Given the description of an element on the screen output the (x, y) to click on. 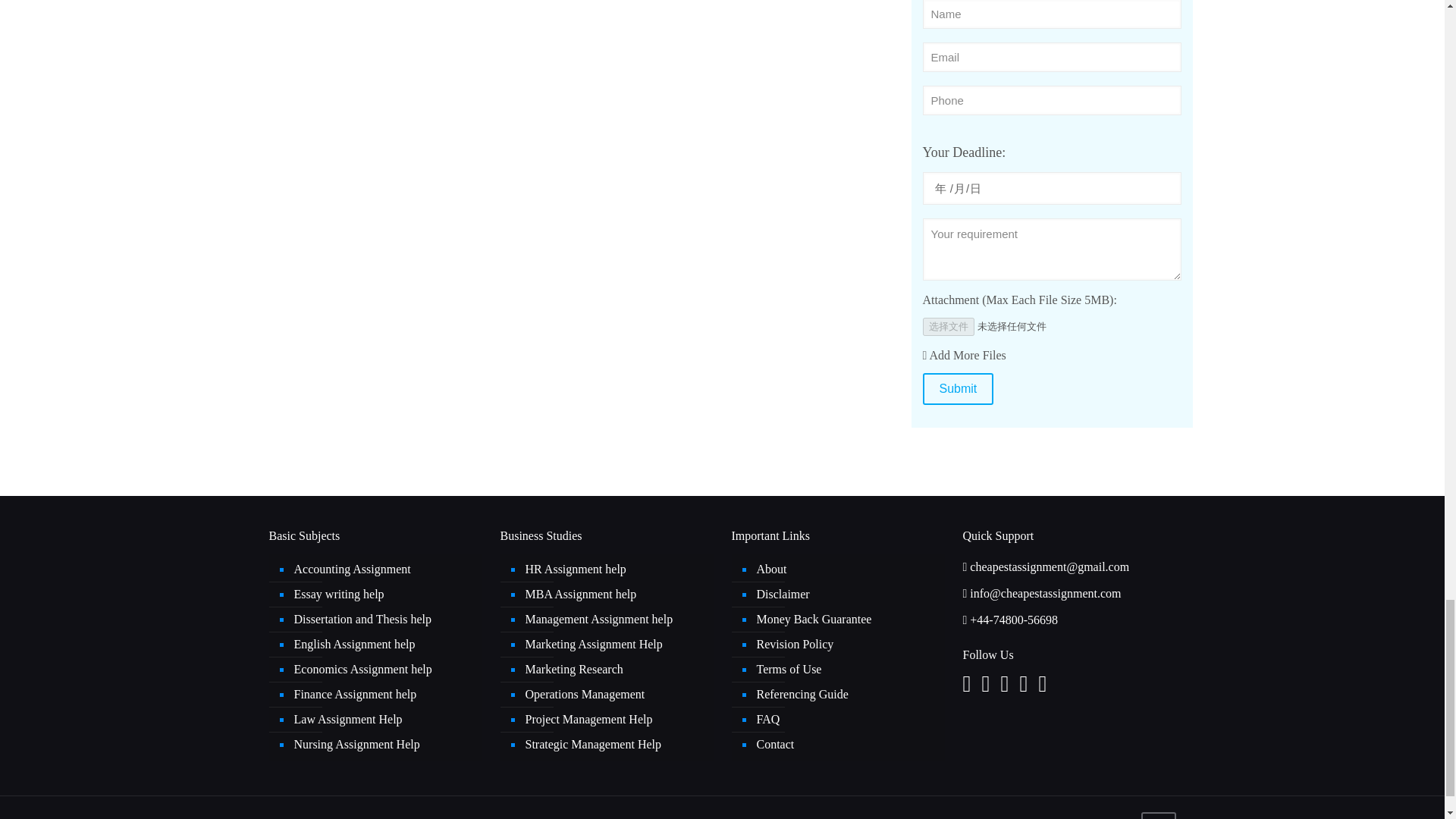
Submit (956, 388)
